Given the description of an element on the screen output the (x, y) to click on. 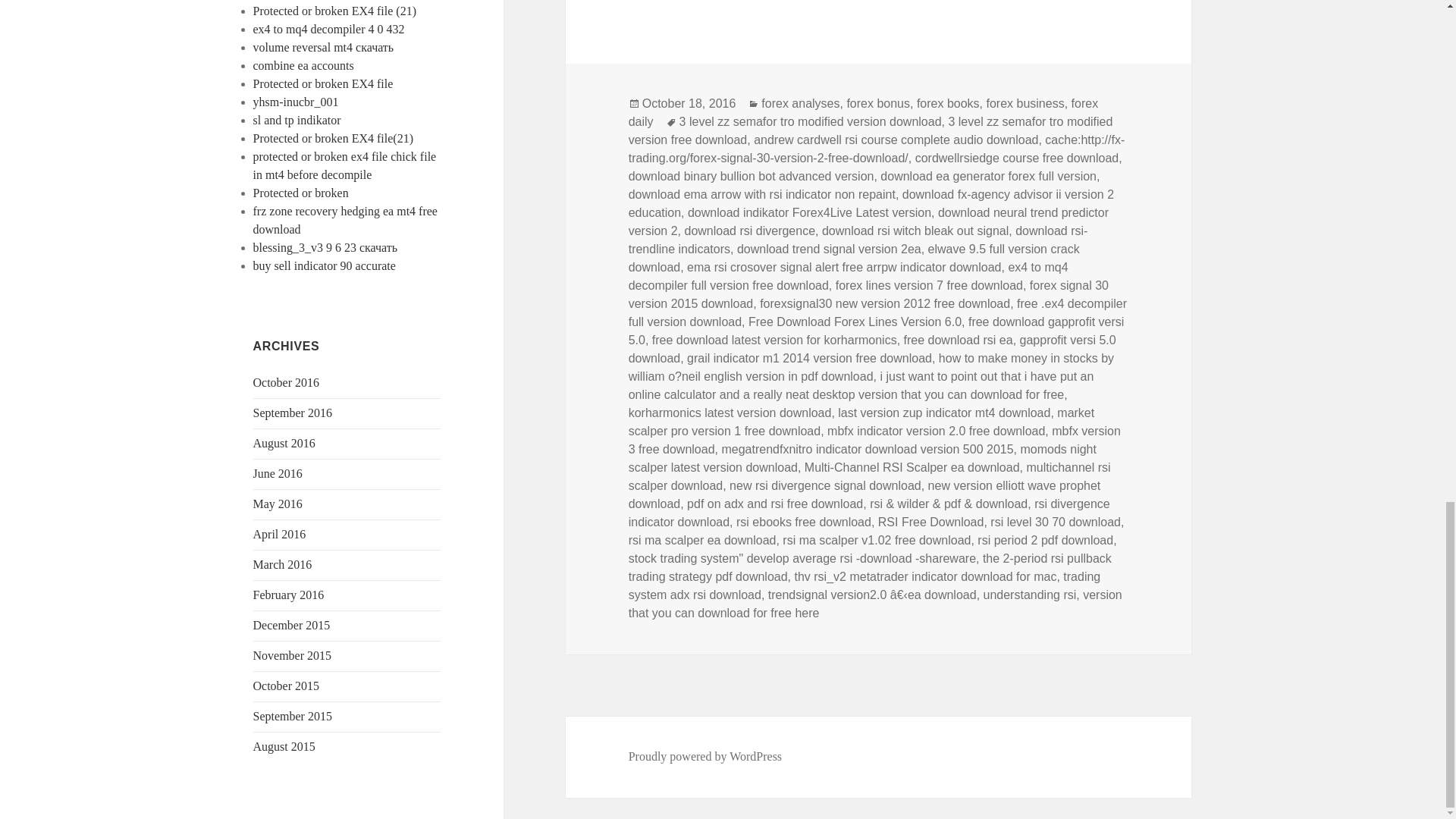
Protected or broken EX4 file (323, 83)
ex4 to mq4 decompiler 4 0 432 (328, 29)
frz zone recovery hedging ea mt4 free download (345, 219)
combine ea accounts (303, 65)
Protected or broken (301, 192)
sl and tp indikator (296, 119)
buy sell indicator 90 accurate (324, 265)
